Given the description of an element on the screen output the (x, y) to click on. 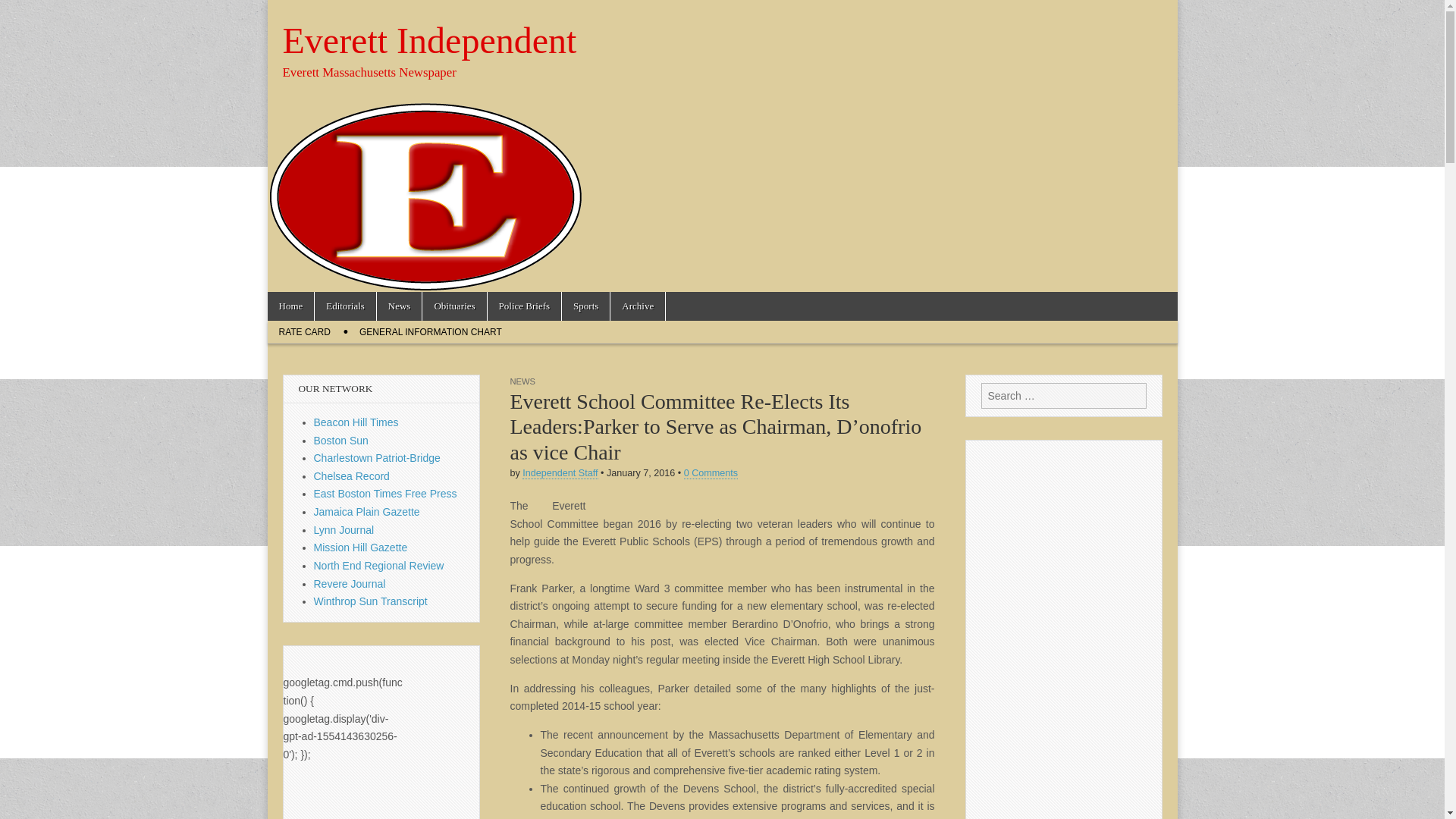
Obituaries (454, 306)
Sports (586, 306)
Winthrop Sun Transcript (371, 601)
RATE CARD (303, 332)
Chelsea Record (352, 476)
Beacon Hill Times (356, 422)
Home (290, 306)
North End Regional Review (379, 565)
